Given the description of an element on the screen output the (x, y) to click on. 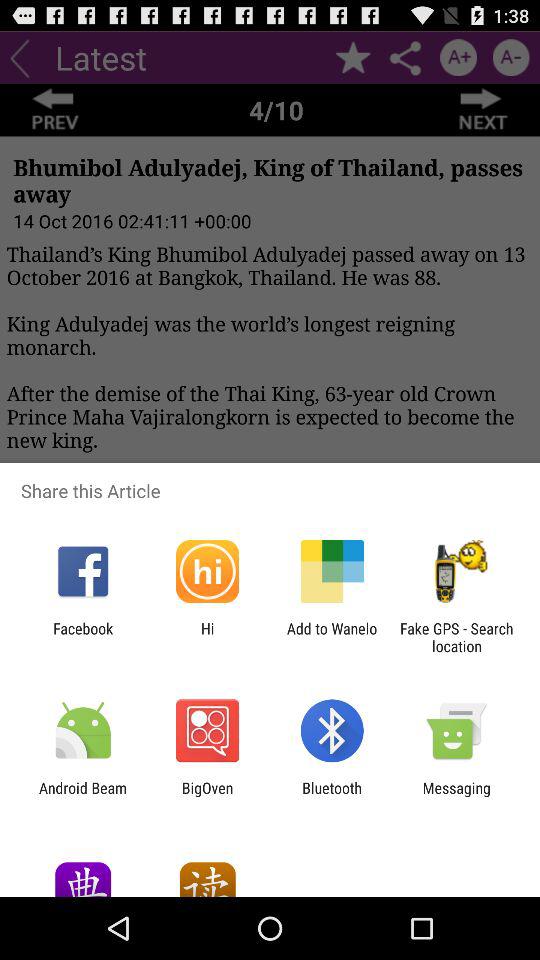
turn on the icon next to the hi app (83, 637)
